Given the description of an element on the screen output the (x, y) to click on. 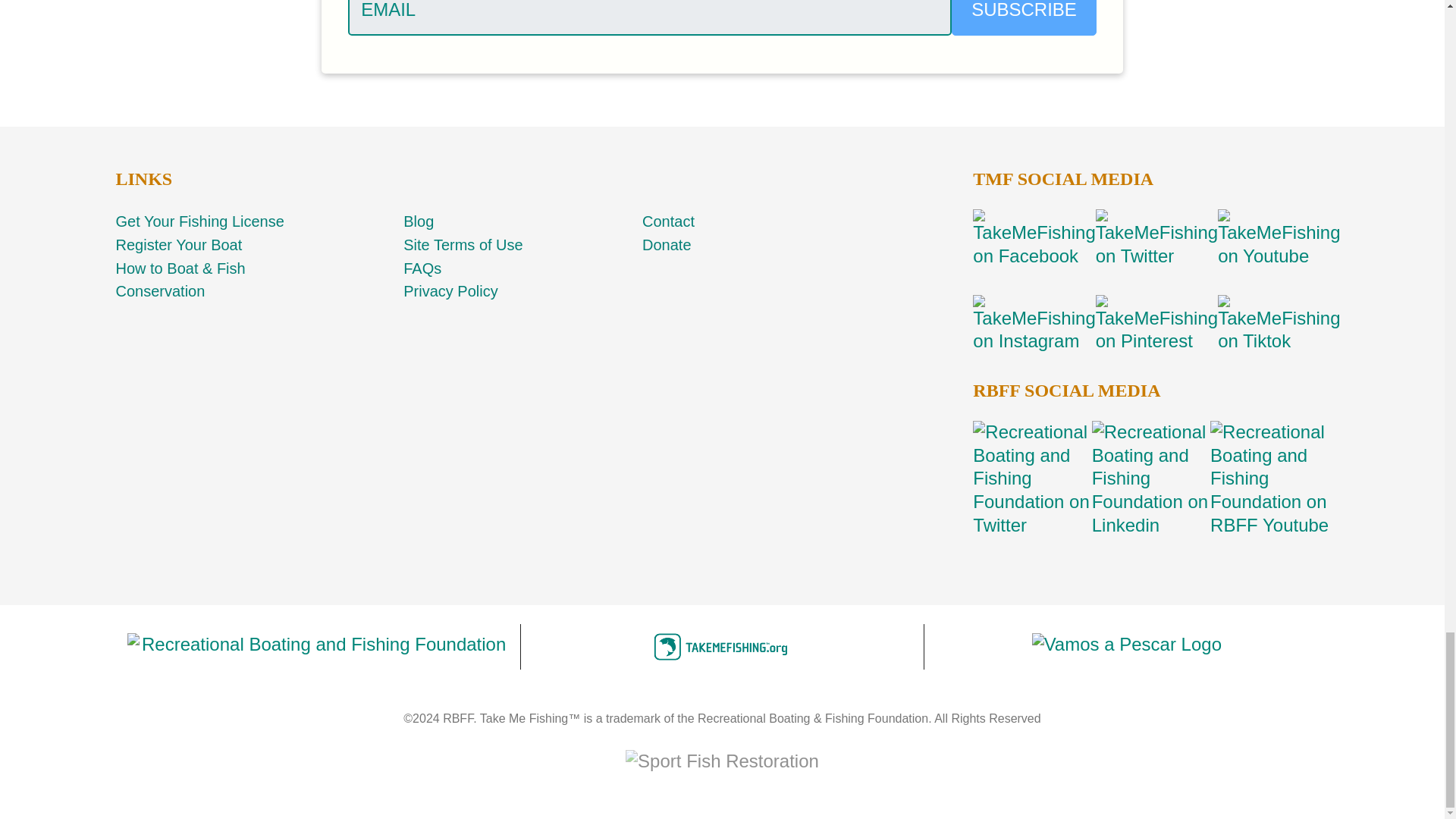
Subscribe (1024, 18)
